Given the description of an element on the screen output the (x, y) to click on. 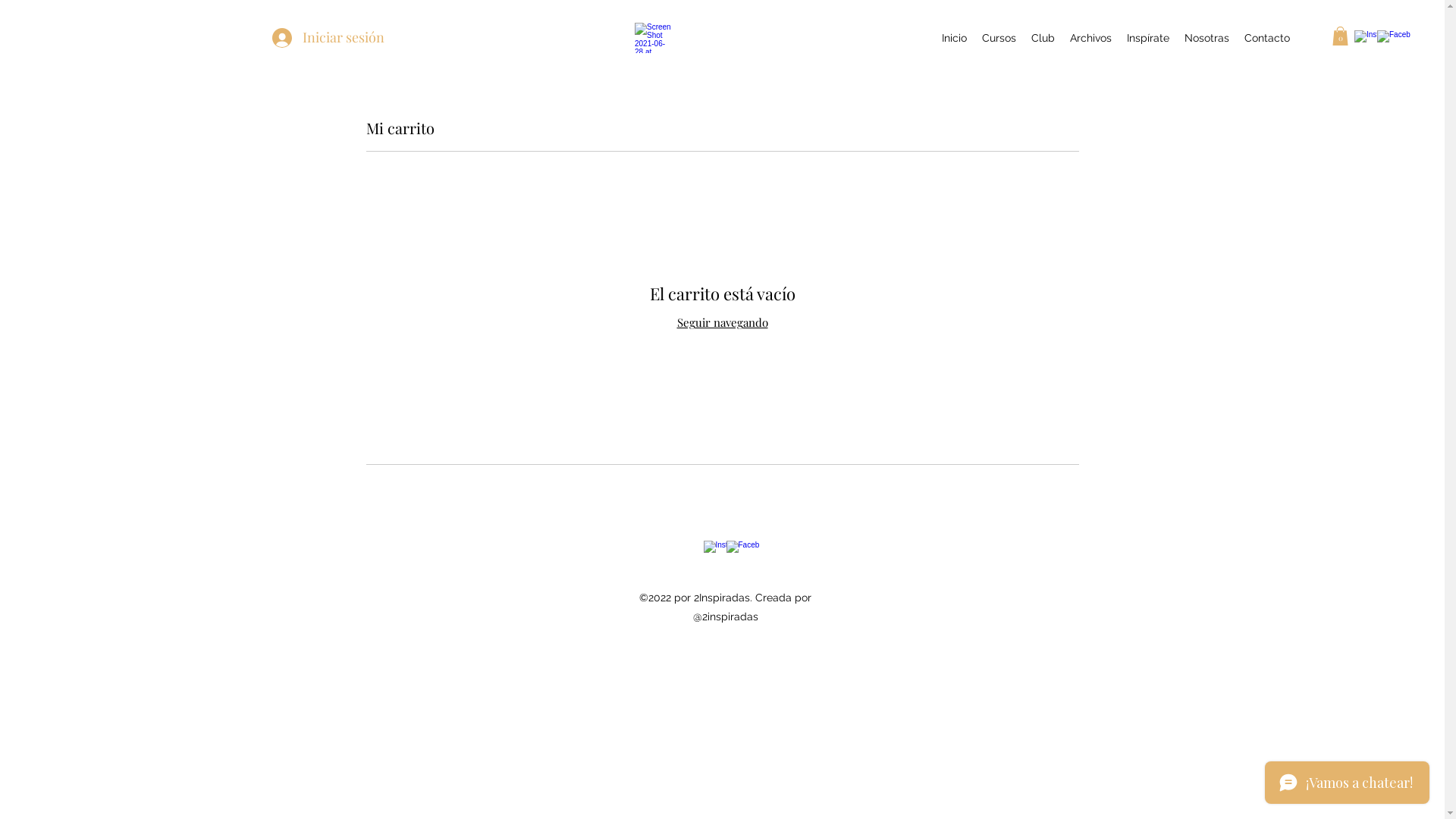
Archivos Element type: text (1090, 37)
Contacto Element type: text (1266, 37)
Nosotras Element type: text (1206, 37)
TWIPLA (Visitor Analytics) Element type: hover (1442, 4)
0 Element type: text (1340, 35)
Inicio Element type: text (954, 37)
Cursos Element type: text (998, 37)
Club Element type: text (1042, 37)
Seguir navegando Element type: text (721, 321)
